Given the description of an element on the screen output the (x, y) to click on. 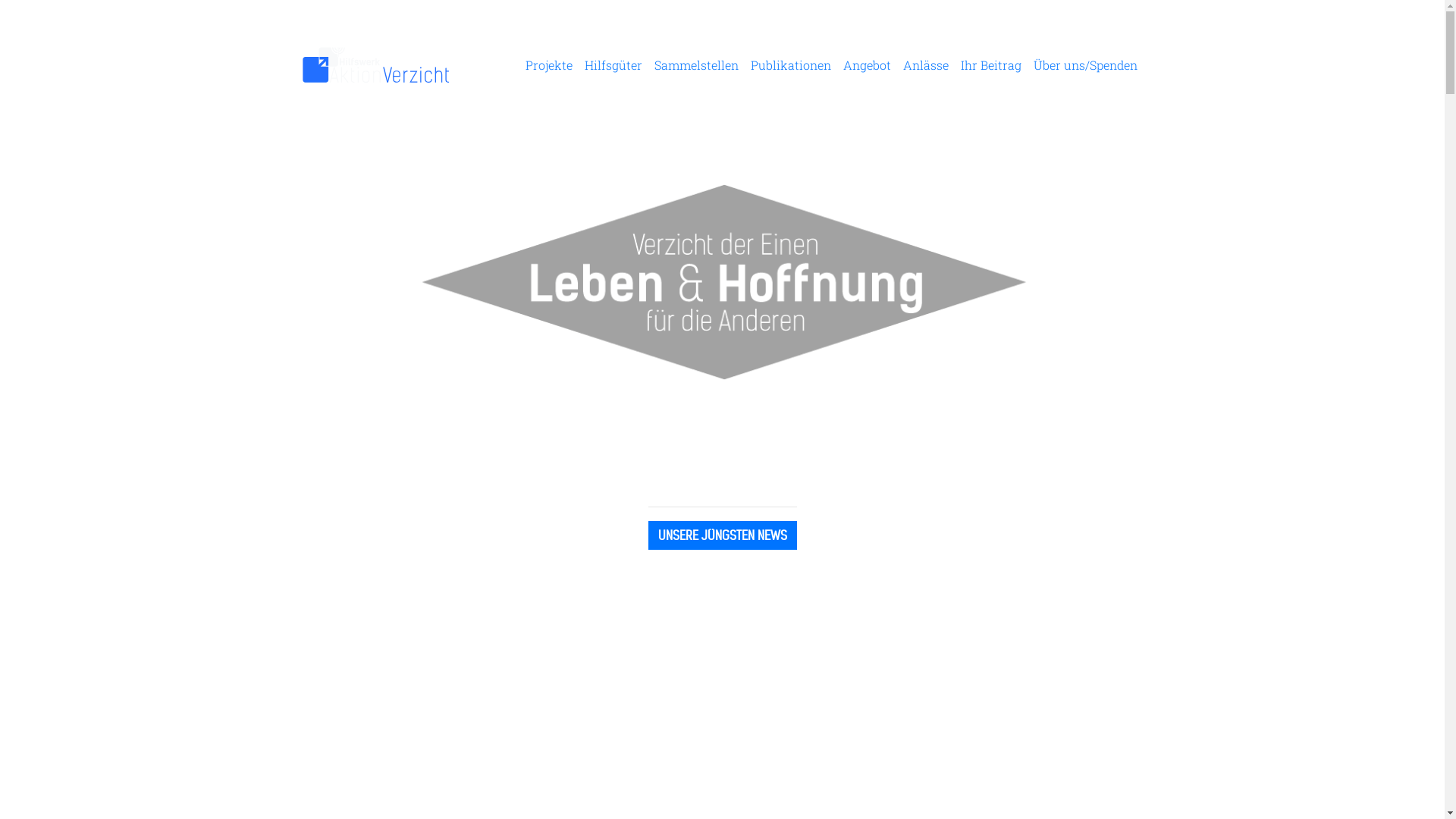
Youtube Element type: text (786, 607)
Ihr Beitrag Element type: text (989, 65)
Projekte Element type: text (547, 65)
Startseite Element type: hover (375, 64)
Facbeook Element type: text (662, 607)
Publikationen Element type: text (790, 65)
Angebot Element type: text (867, 65)
Sammelstellen Element type: text (695, 65)
START Element type: text (721, 773)
